Given the description of an element on the screen output the (x, y) to click on. 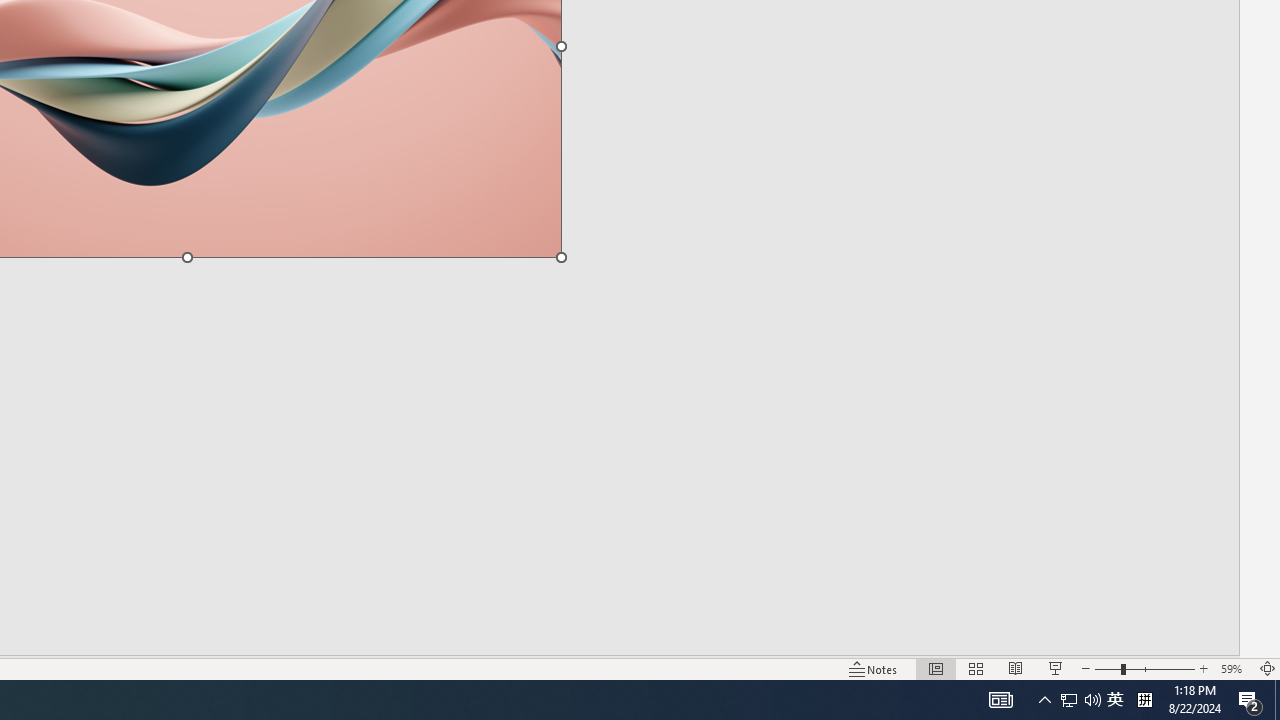
Zoom 59% (1234, 668)
